Given the description of an element on the screen output the (x, y) to click on. 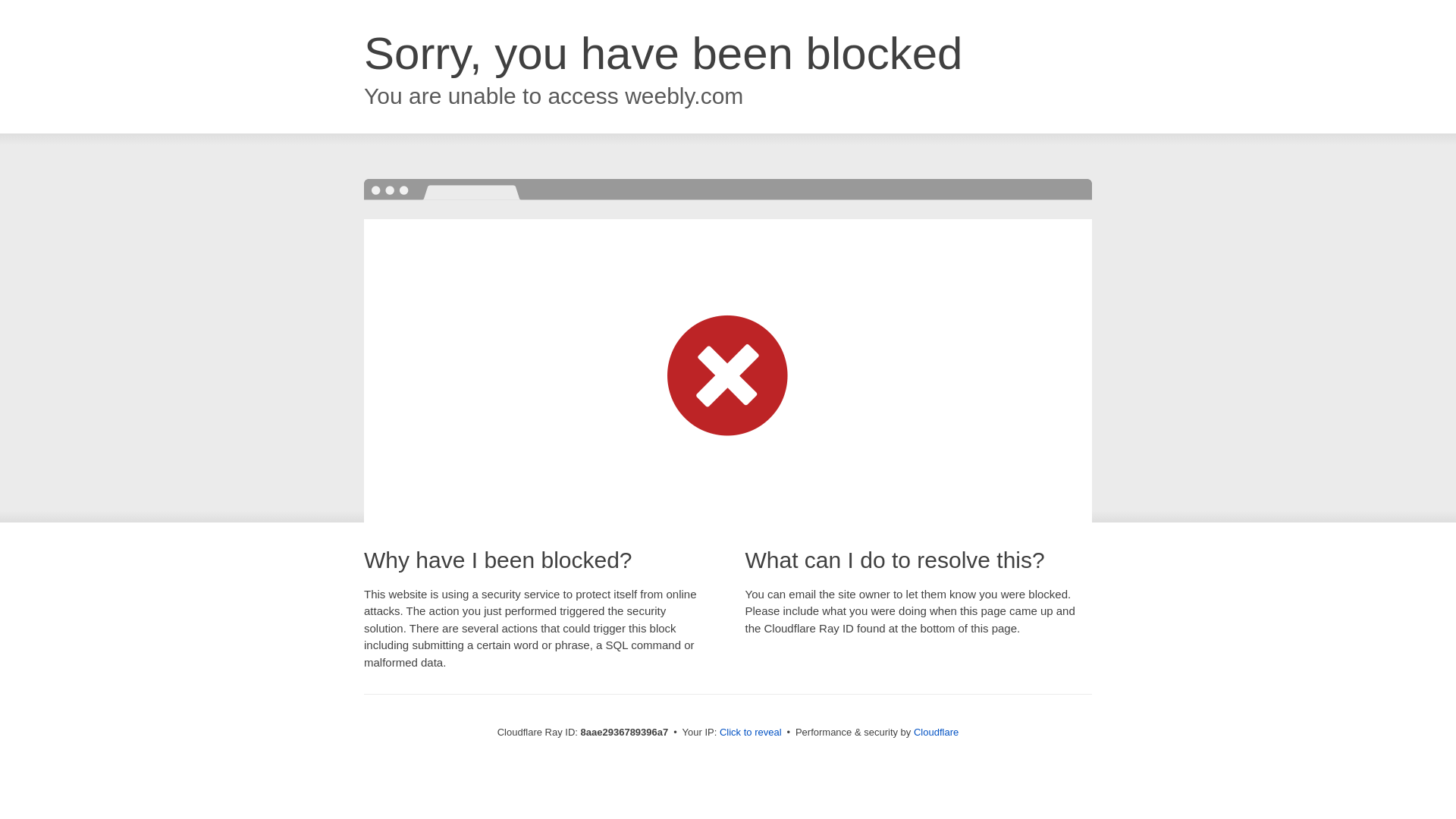
Cloudflare (936, 731)
Click to reveal (750, 732)
